Given the description of an element on the screen output the (x, y) to click on. 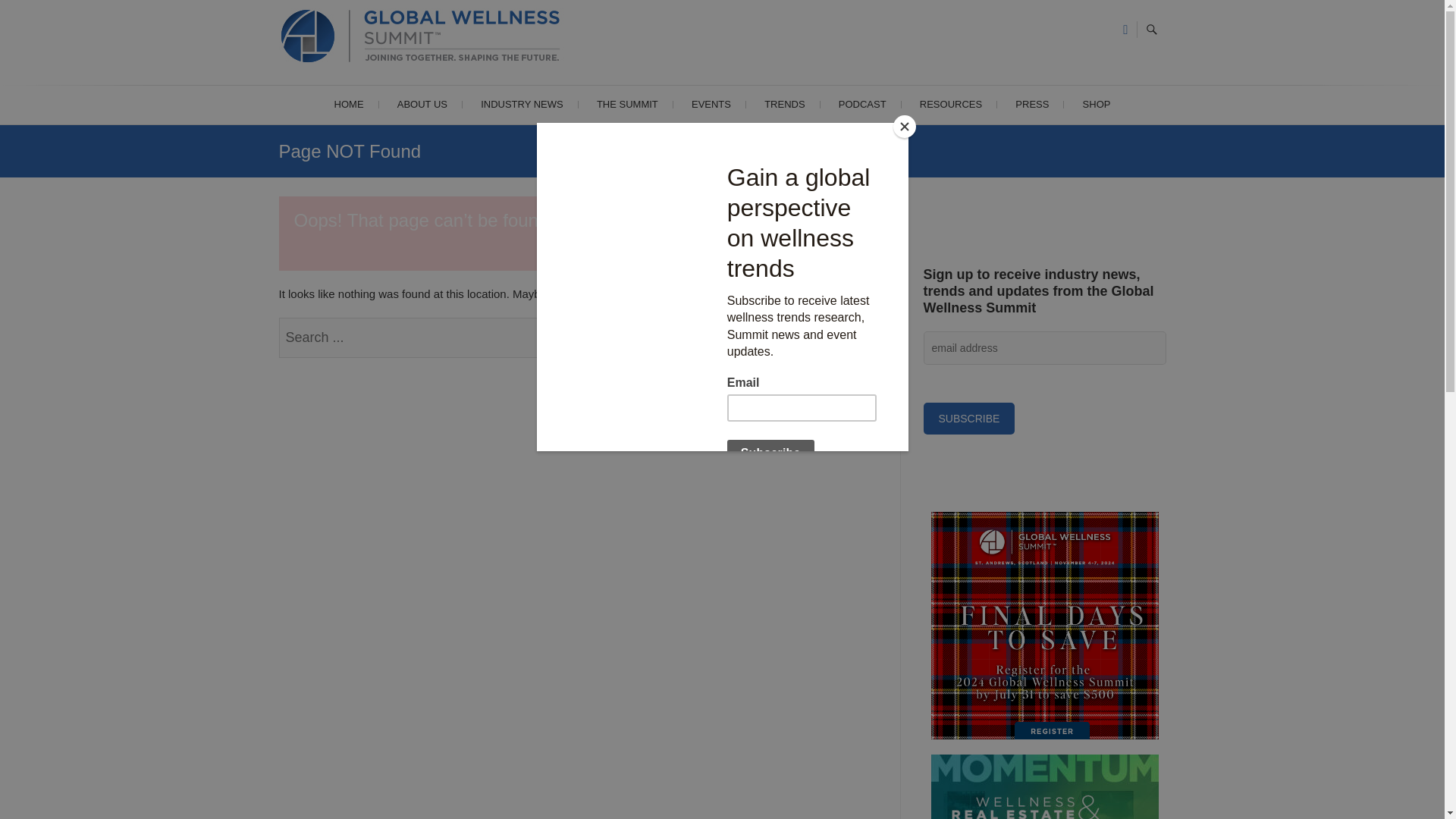
Global Wellness Summit (733, 92)
Subscribe (968, 418)
INDUSTRY NEWS (521, 104)
Global Wellness Summit (453, 39)
EVENTS (711, 104)
ABOUT US (422, 104)
HOME (348, 104)
THE SUMMIT (626, 104)
Global Wellness Summit (733, 92)
